Given the description of an element on the screen output the (x, y) to click on. 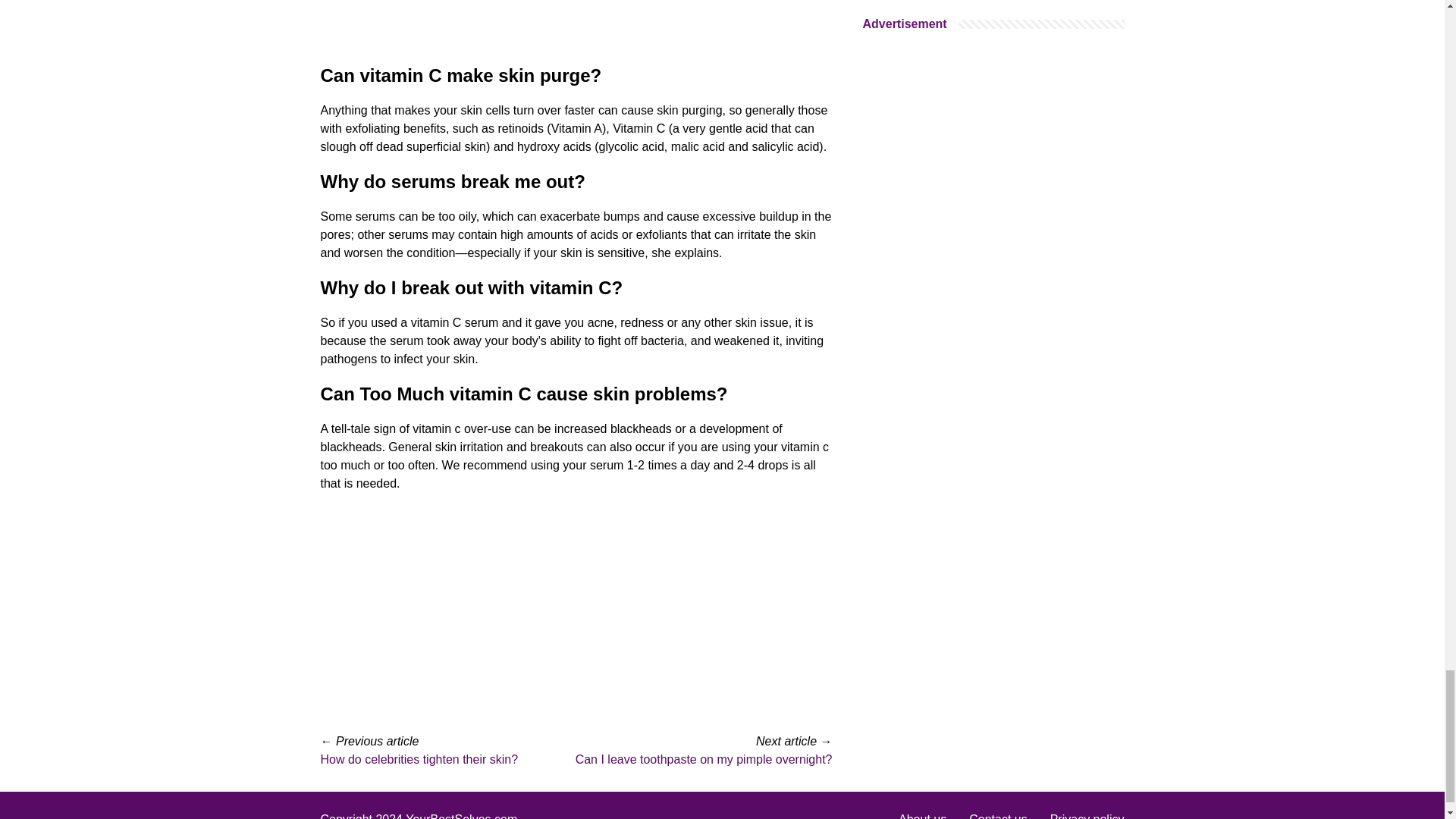
Can I leave toothpaste on my pimple overnight? (703, 758)
How do celebrities tighten their skin? (419, 758)
